Given the description of an element on the screen output the (x, y) to click on. 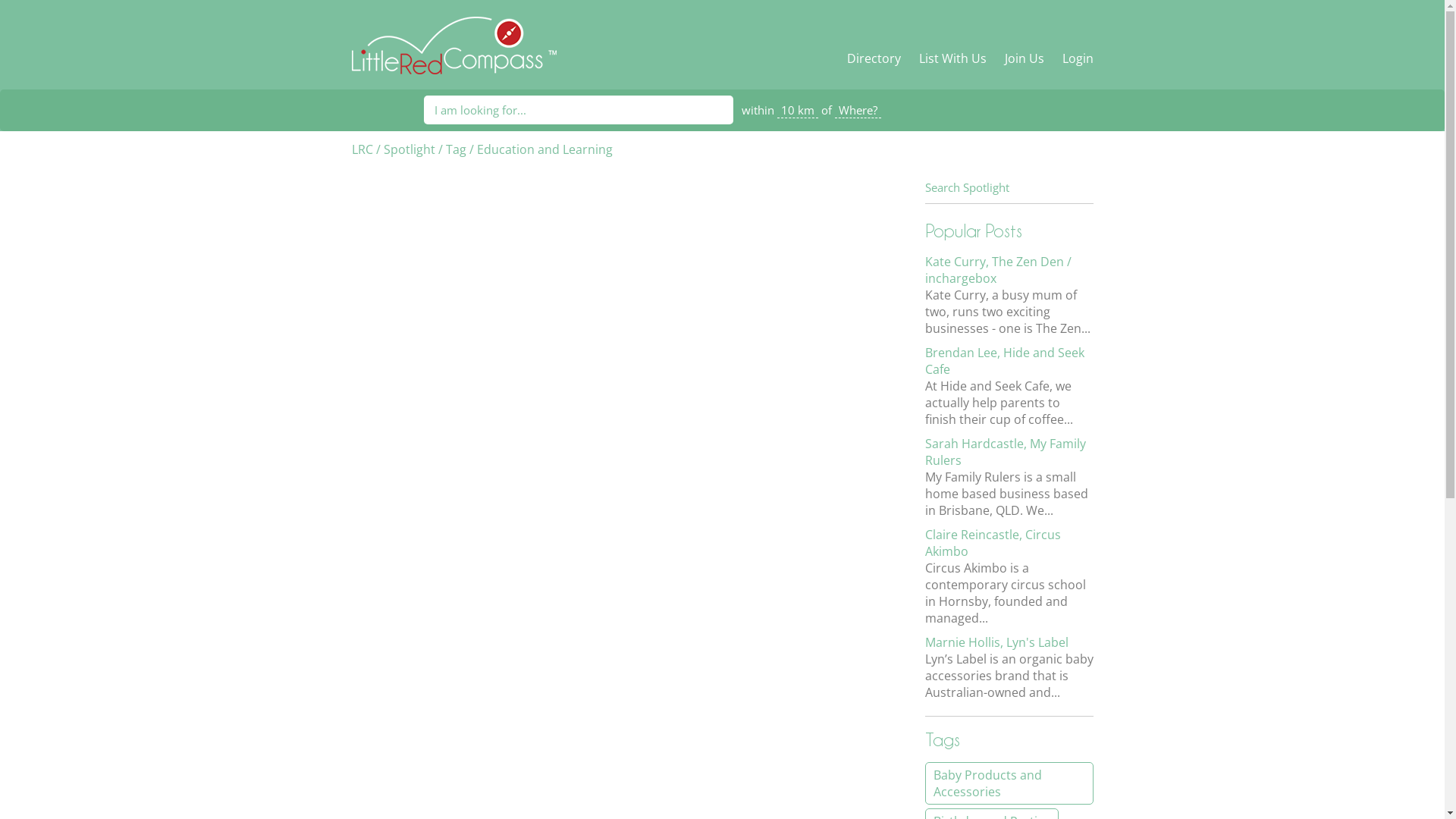
Little Red Compass Element type: text (453, 37)
Sarah Hardcastle, My Family Rulers Element type: text (1005, 451)
Spotlight Element type: text (409, 149)
Kate Curry, The Zen Den / inchargebox Element type: text (998, 269)
Where? Element type: text (857, 110)
Marnie Hollis, Lyn's Label Element type: text (996, 641)
Brendan Lee, Hide and Seek Cafe Element type: text (1004, 360)
10 km Element type: text (796, 110)
LRC Element type: text (362, 149)
Claire Reincastle, Circus Akimbo Element type: text (992, 542)
List With Us Element type: text (952, 58)
Join Us Element type: text (1023, 58)
Tag Element type: text (455, 149)
Login Element type: text (1073, 58)
Education and Learning Element type: text (543, 149)
Baby Products and Accessories Element type: text (1009, 783)
Directory Element type: text (876, 58)
